Given the description of an element on the screen output the (x, y) to click on. 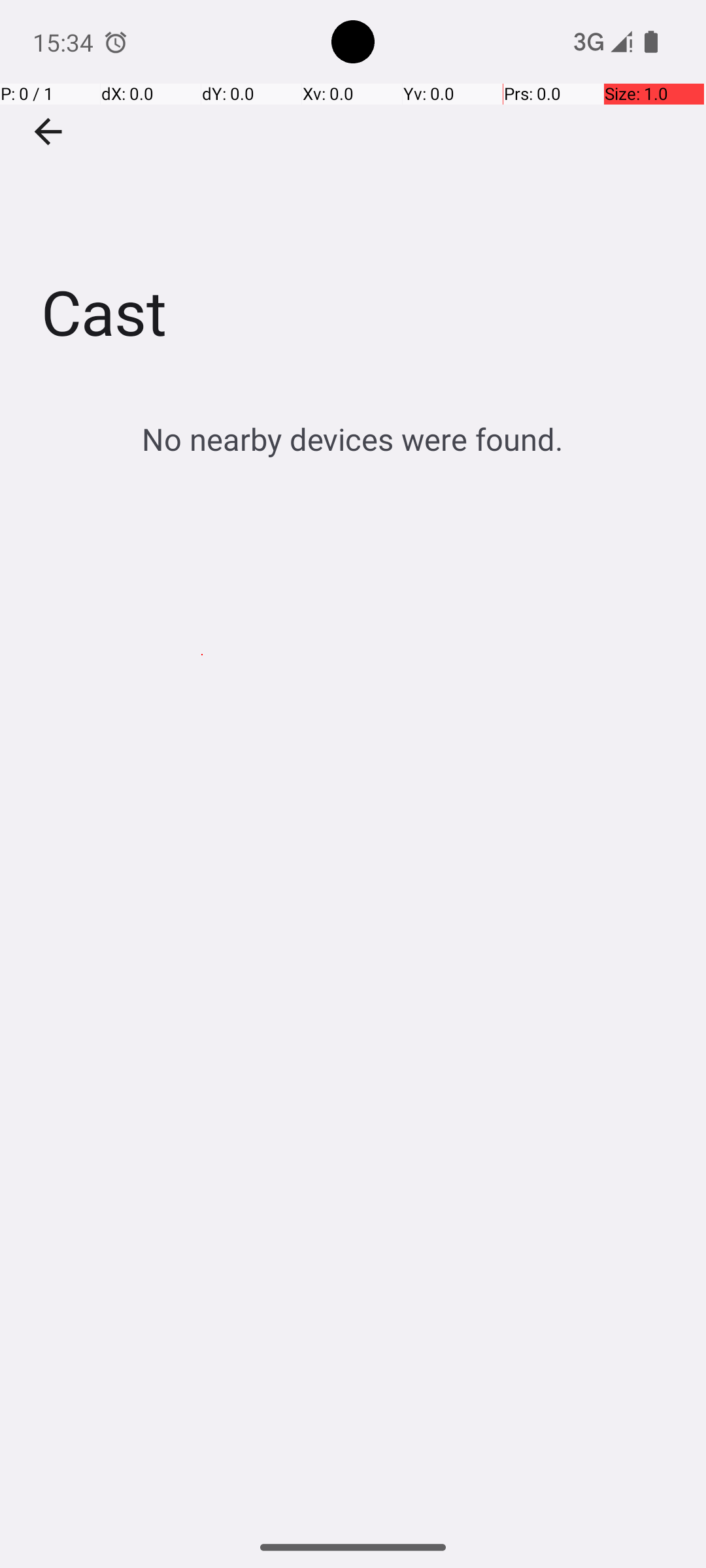
No nearby devices were found. Element type: android.widget.TextView (352, 438)
